Given the description of an element on the screen output the (x, y) to click on. 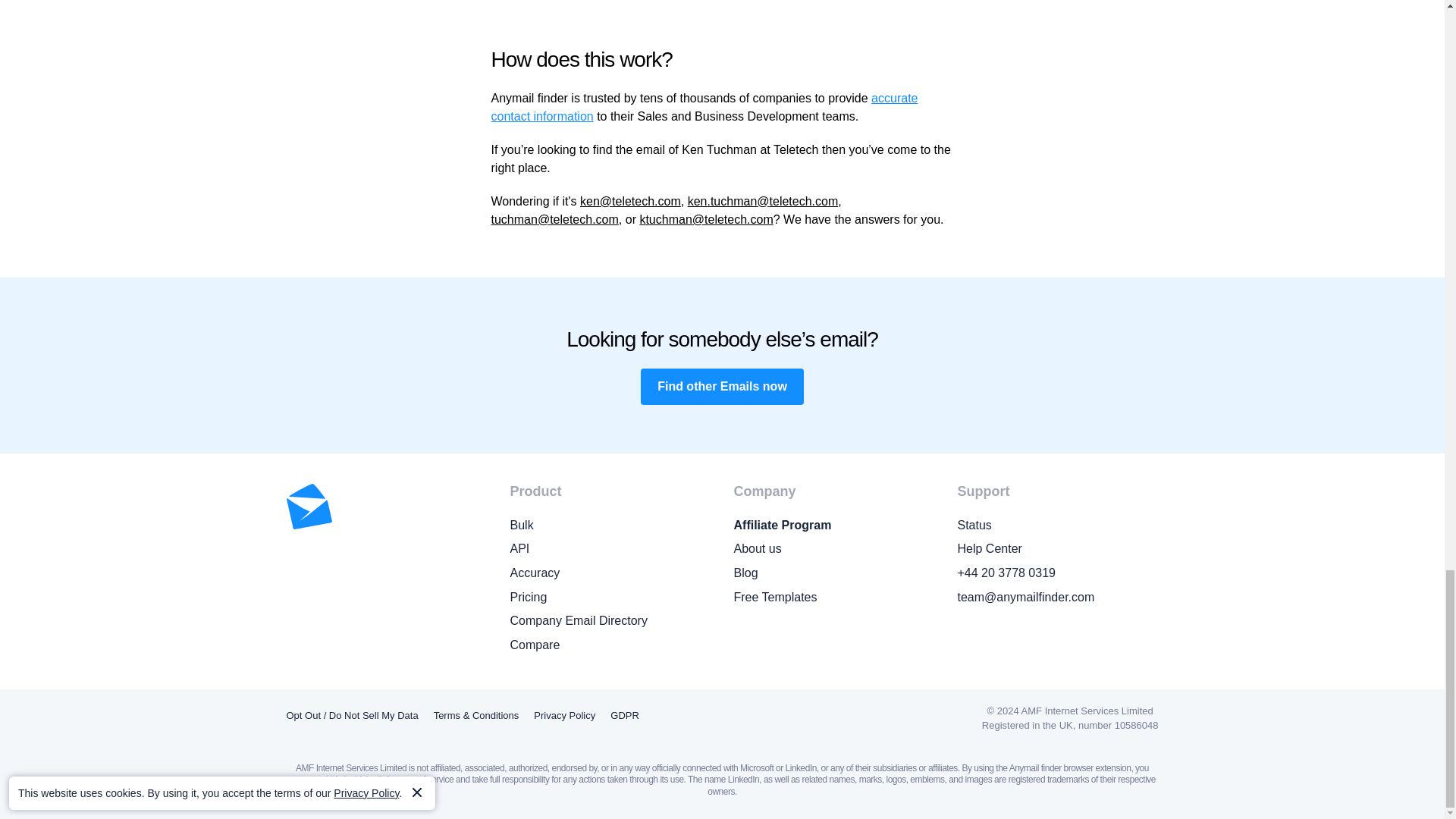
accurate contact information (705, 106)
API (609, 548)
Accuracy (609, 573)
Bulk (609, 525)
Find other Emails now (721, 386)
